Given the description of an element on the screen output the (x, y) to click on. 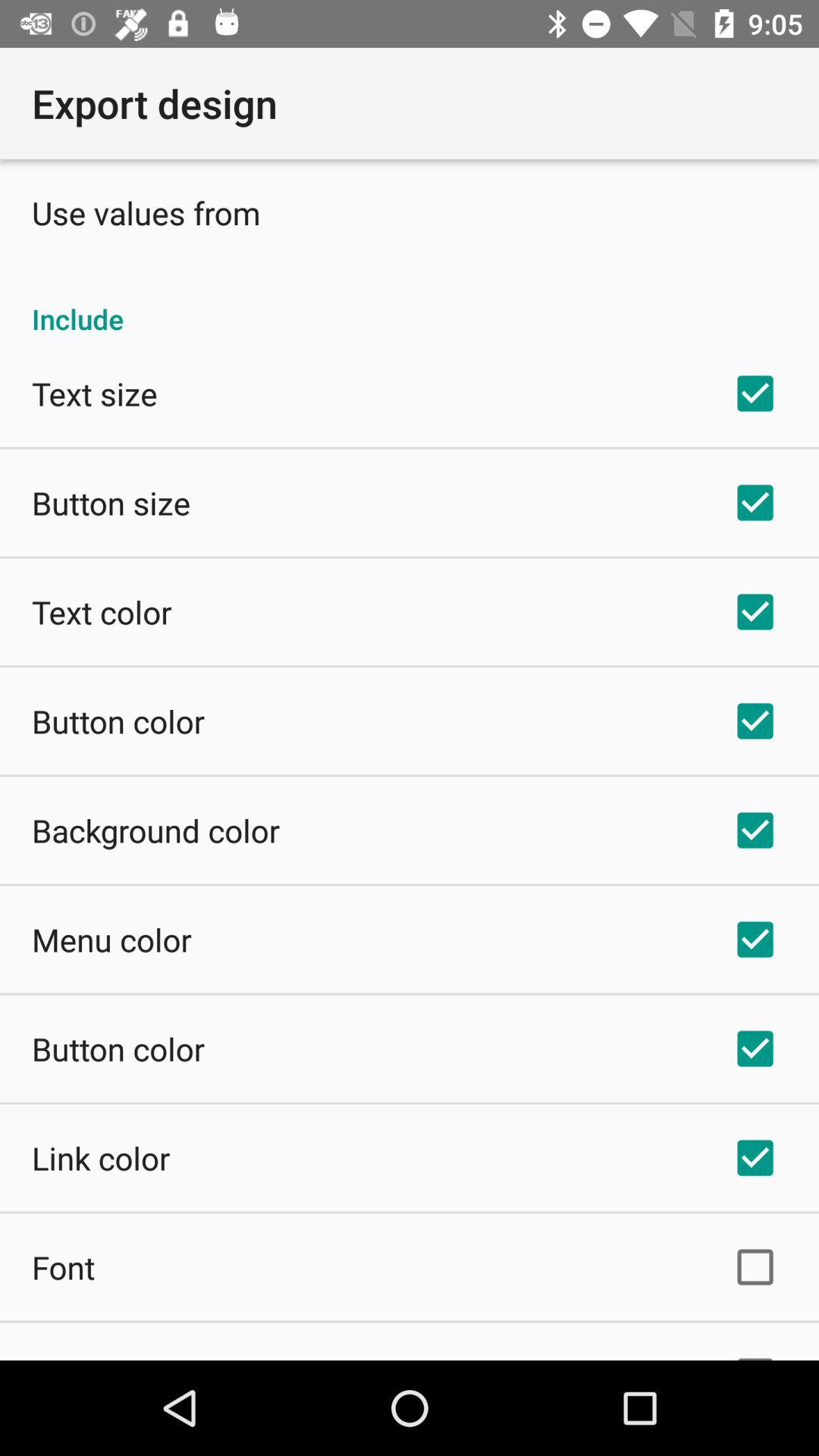
press the icon below export design (145, 212)
